Given the description of an element on the screen output the (x, y) to click on. 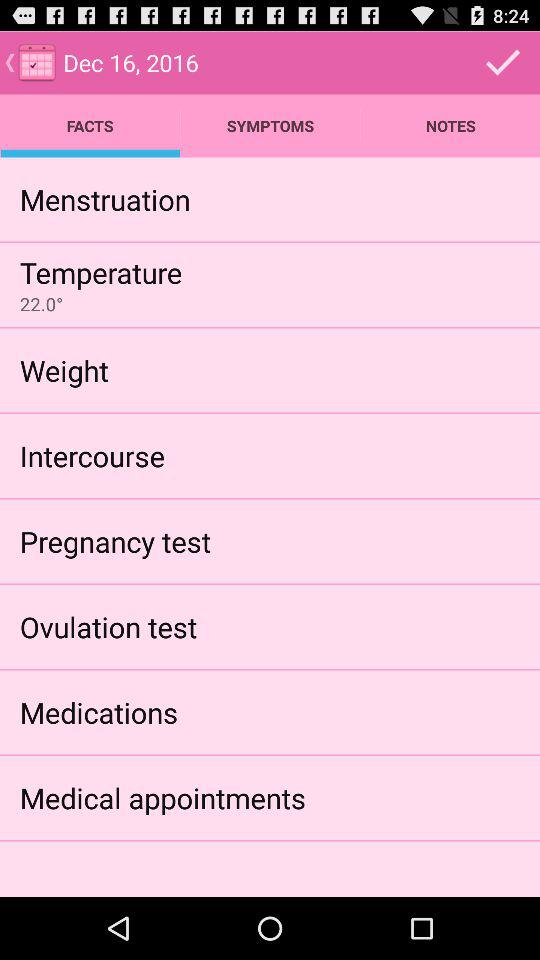
turn off weight app (63, 369)
